Given the description of an element on the screen output the (x, y) to click on. 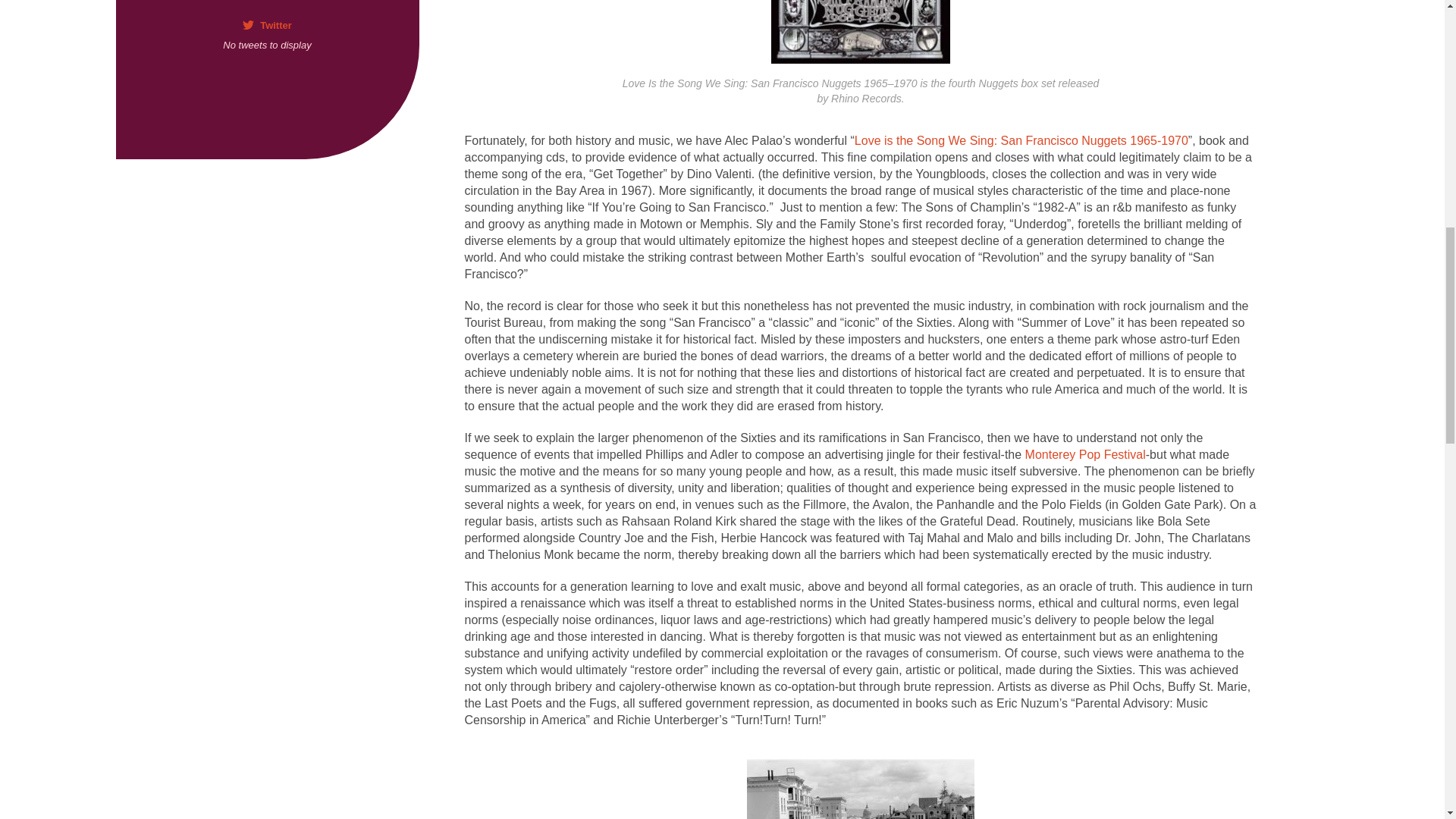
Monterey Pop Festival (1085, 453)
Love is the Song We Sing: San Francisco Nuggets 1965-1970 (1021, 139)
